Given the description of an element on the screen output the (x, y) to click on. 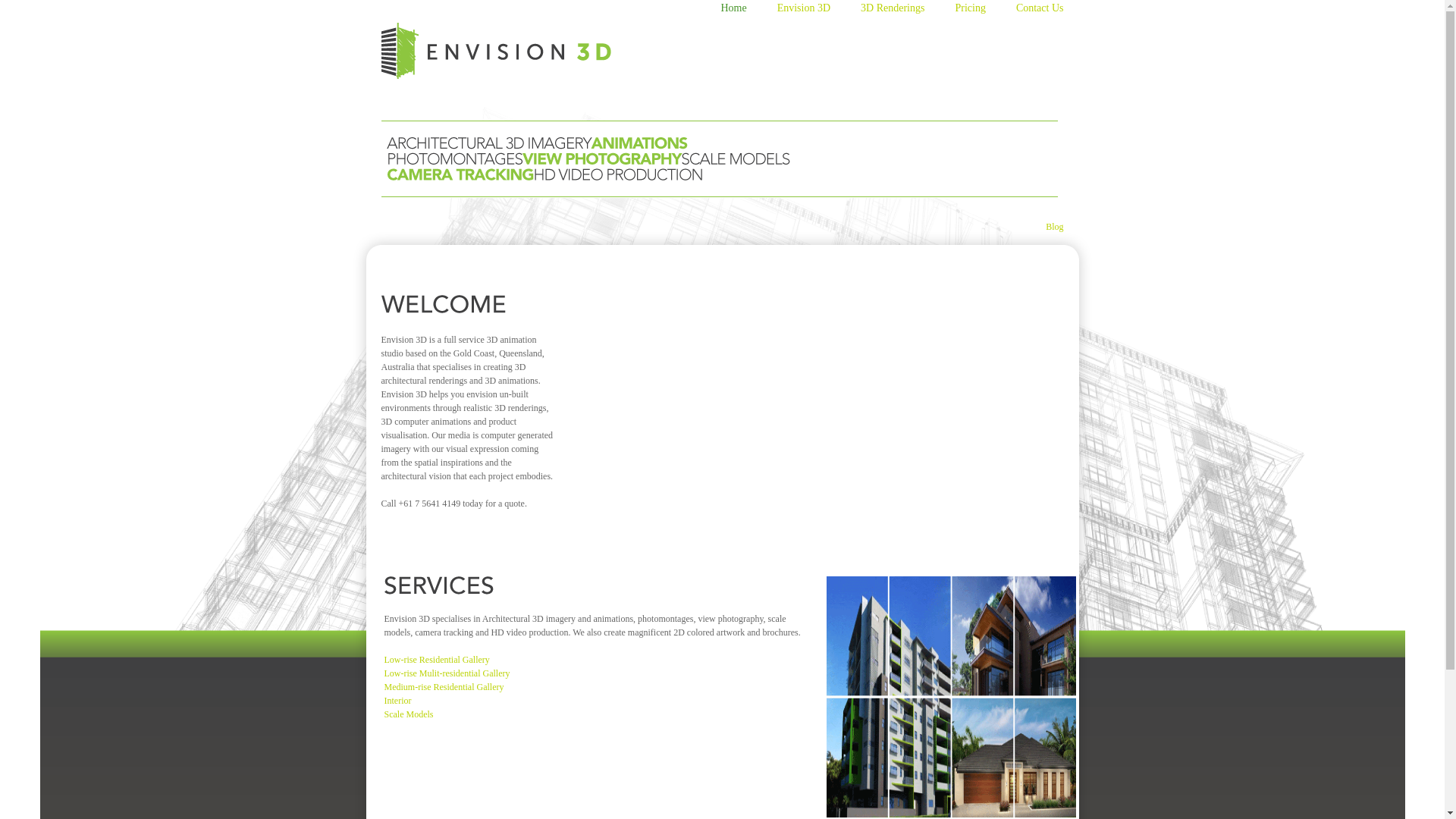
Low-rise Residential Gallery Element type: text (436, 659)
Home Element type: text (740, 10)
Blog Element type: text (1054, 226)
Pricing Element type: text (977, 10)
Interior Element type: text (397, 700)
Envision 3D Element type: text (811, 10)
Scale Models Element type: text (408, 714)
Go to site home page Element type: hover (495, 56)
Go to site home page Element type: hover (495, 50)
Contact Us Element type: text (1047, 10)
Low-rise Mulit-residential Gallery Element type: text (446, 673)
3D Renderings Element type: text (900, 10)
Medium-rise Residential Gallery Element type: text (443, 686)
